Given the description of an element on the screen output the (x, y) to click on. 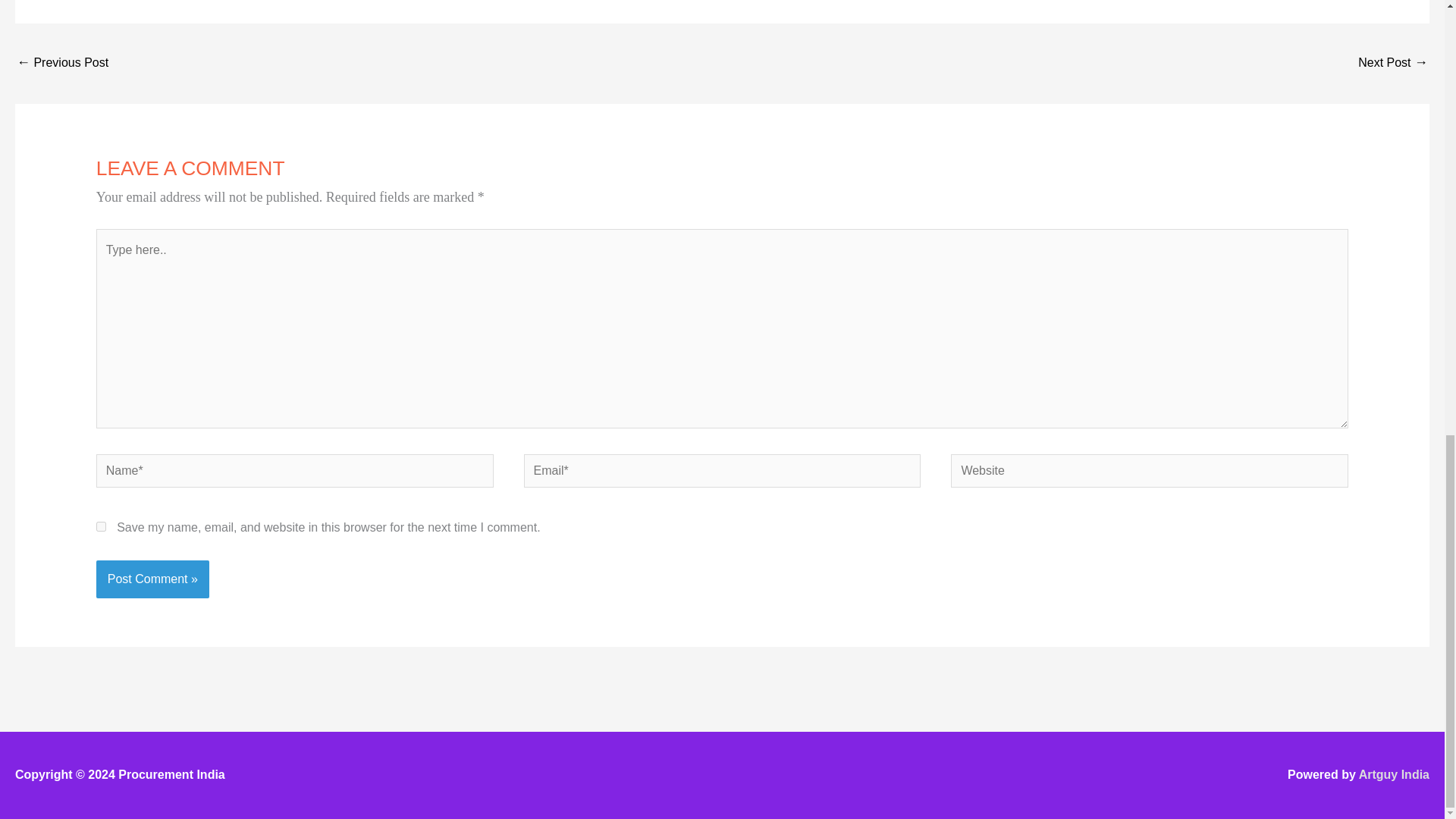
Artguy India (1393, 774)
Wagering Routine Joined Articles (1393, 62)
yes (101, 526)
